Given the description of an element on the screen output the (x, y) to click on. 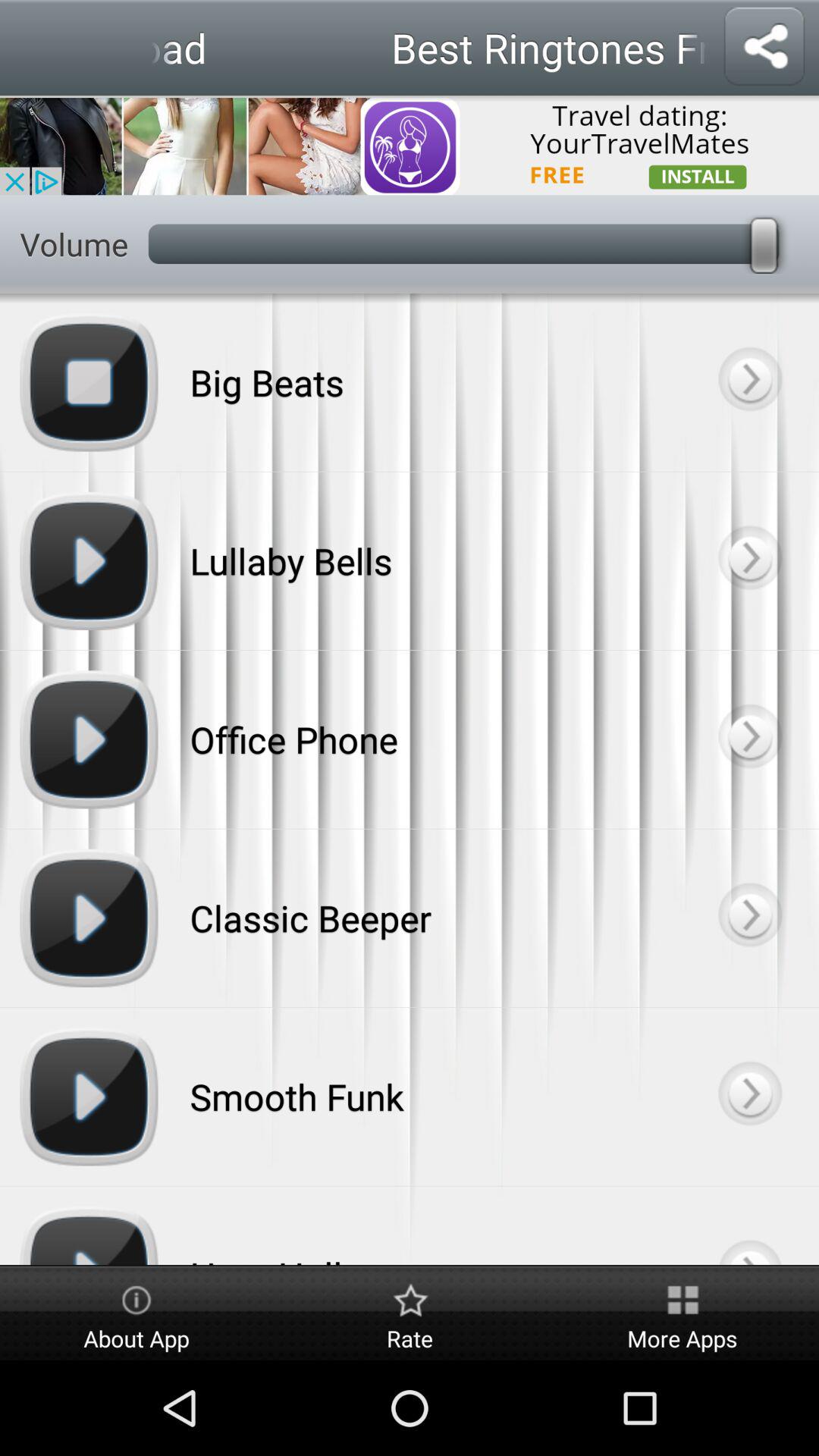
next button (749, 918)
